Given the description of an element on the screen output the (x, y) to click on. 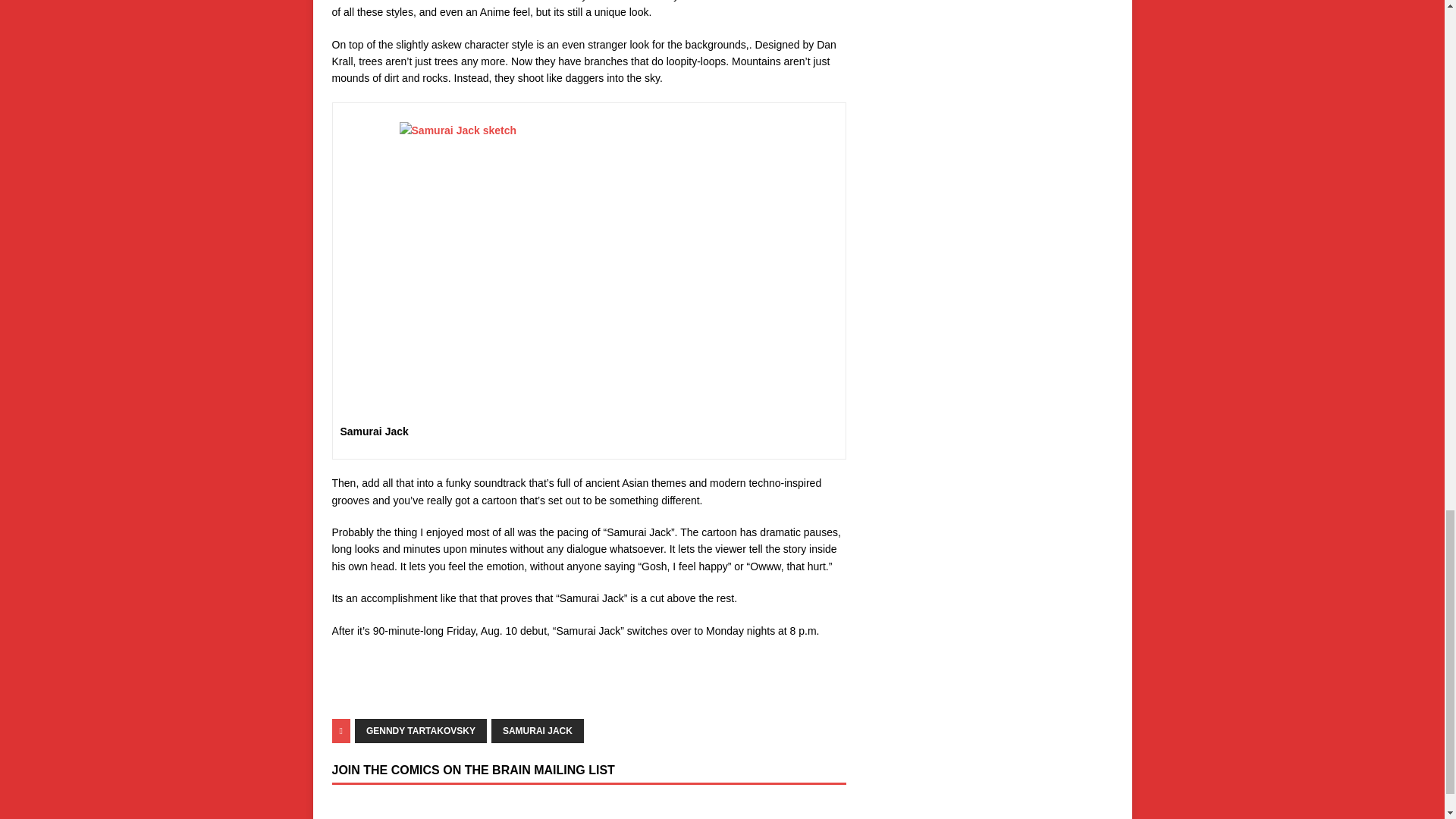
SAMURAI JACK (537, 730)
GENNDY TARTAKOVSKY (420, 730)
